Given the description of an element on the screen output the (x, y) to click on. 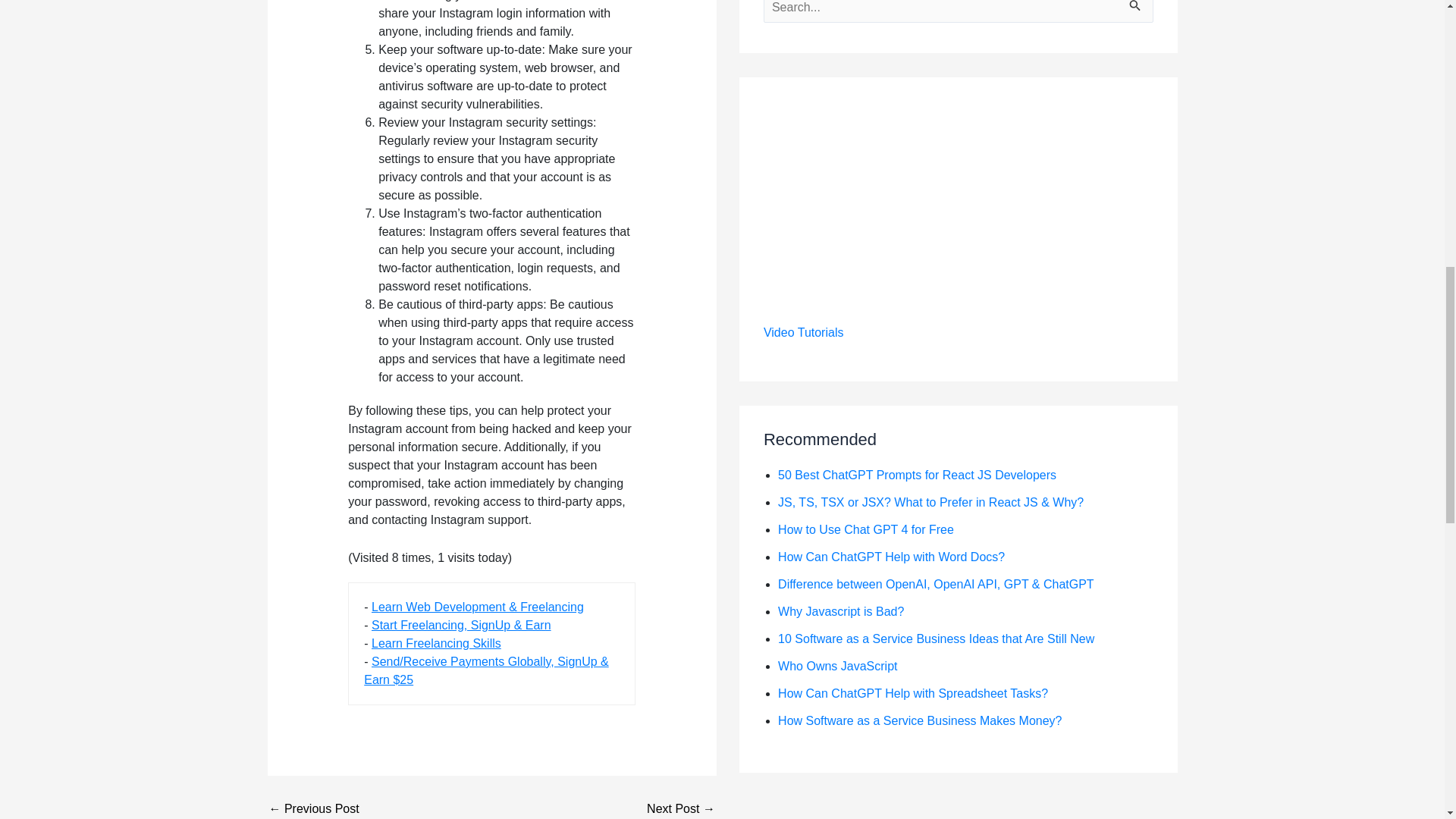
Search (1136, 17)
Learn Freelancing Skills (435, 643)
Search (1136, 17)
